Given the description of an element on the screen output the (x, y) to click on. 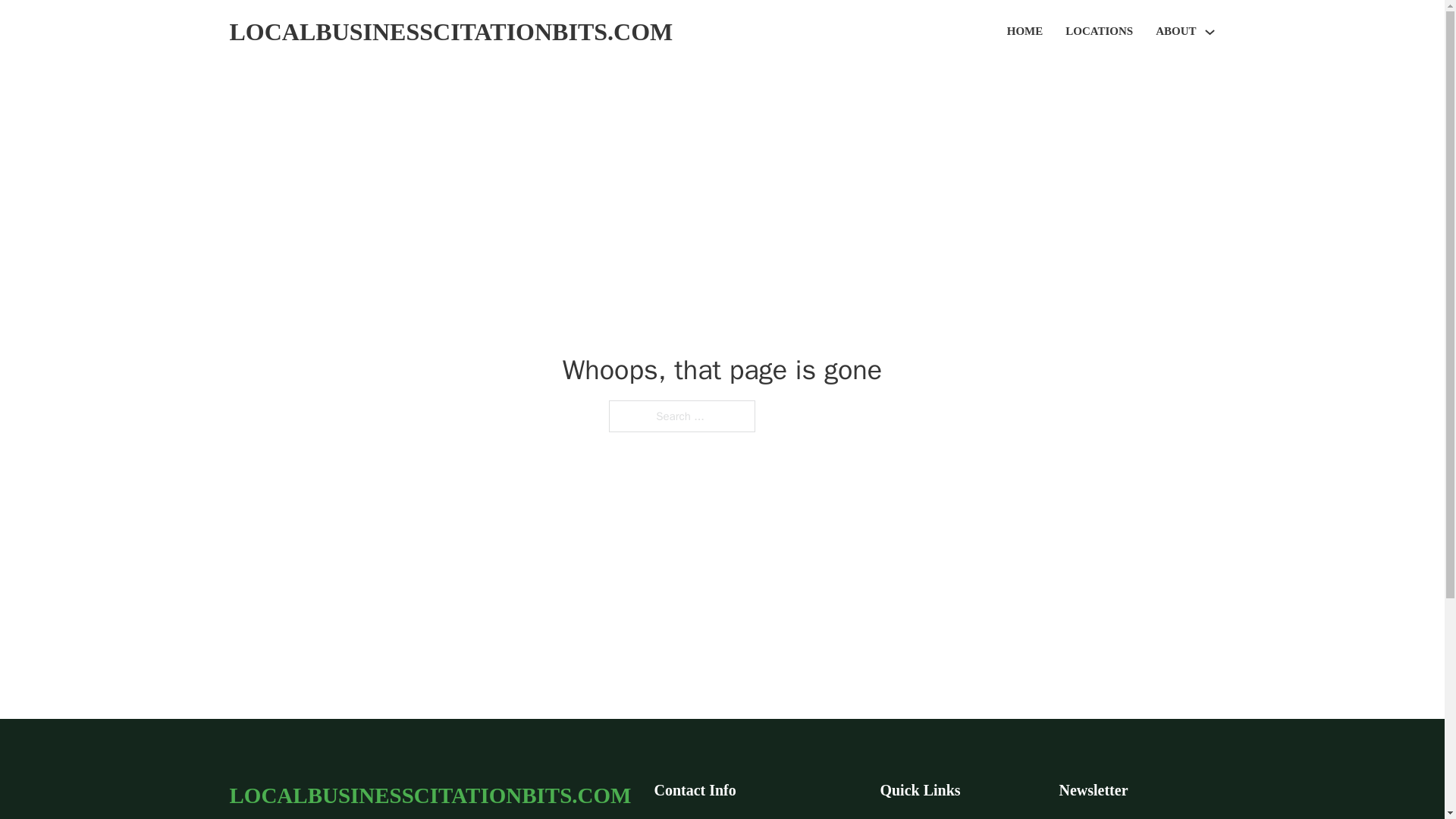
LOCALBUSINESSCITATIONBITS.COM (429, 795)
HOME (1025, 31)
LOCATIONS (1098, 31)
LOCALBUSINESSCITATIONBITS.COM (450, 31)
